Given the description of an element on the screen output the (x, y) to click on. 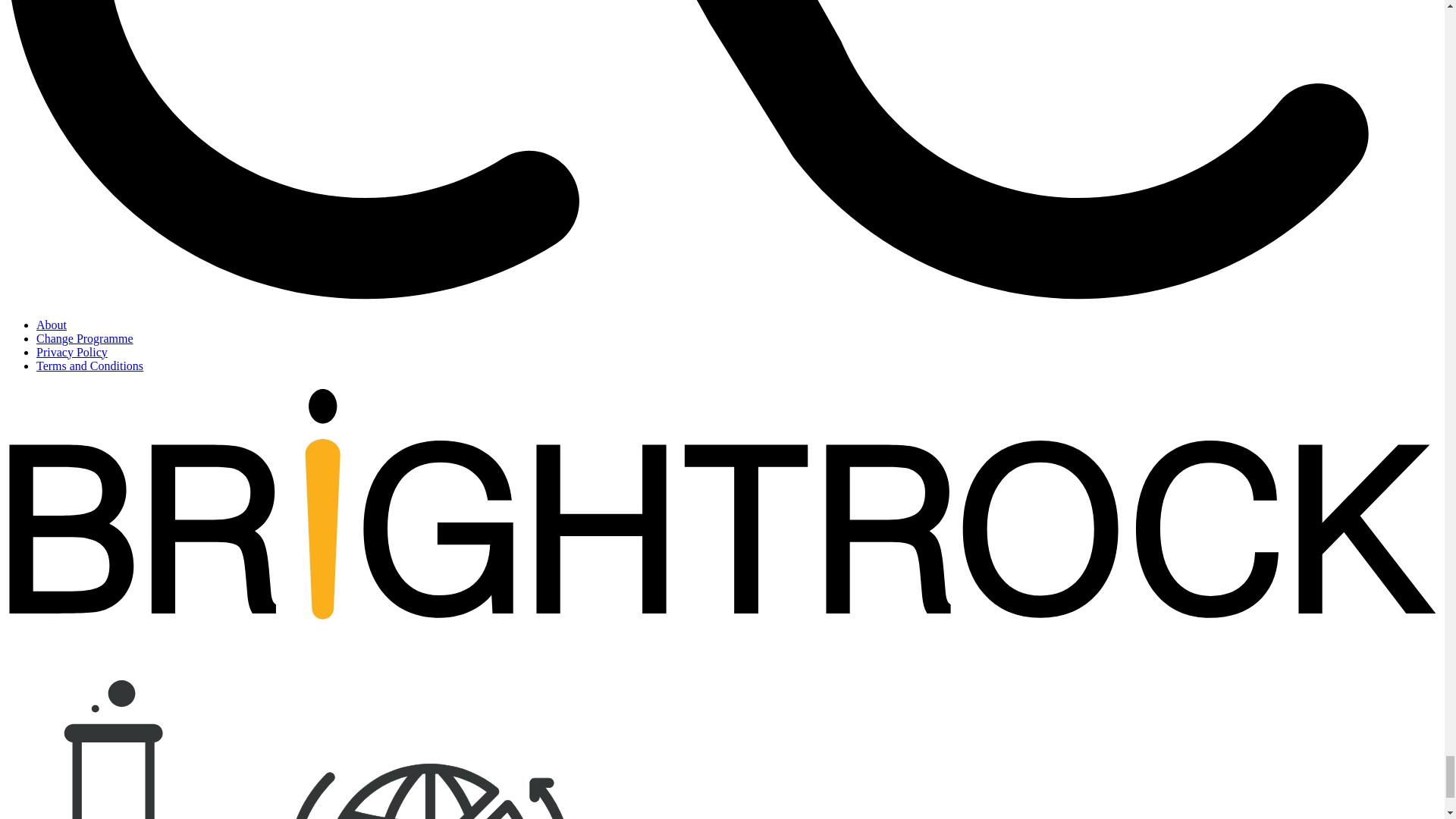
Change Programme (84, 338)
Terms and Conditions (89, 365)
Privacy Policy (71, 351)
About (51, 324)
